Given the description of an element on the screen output the (x, y) to click on. 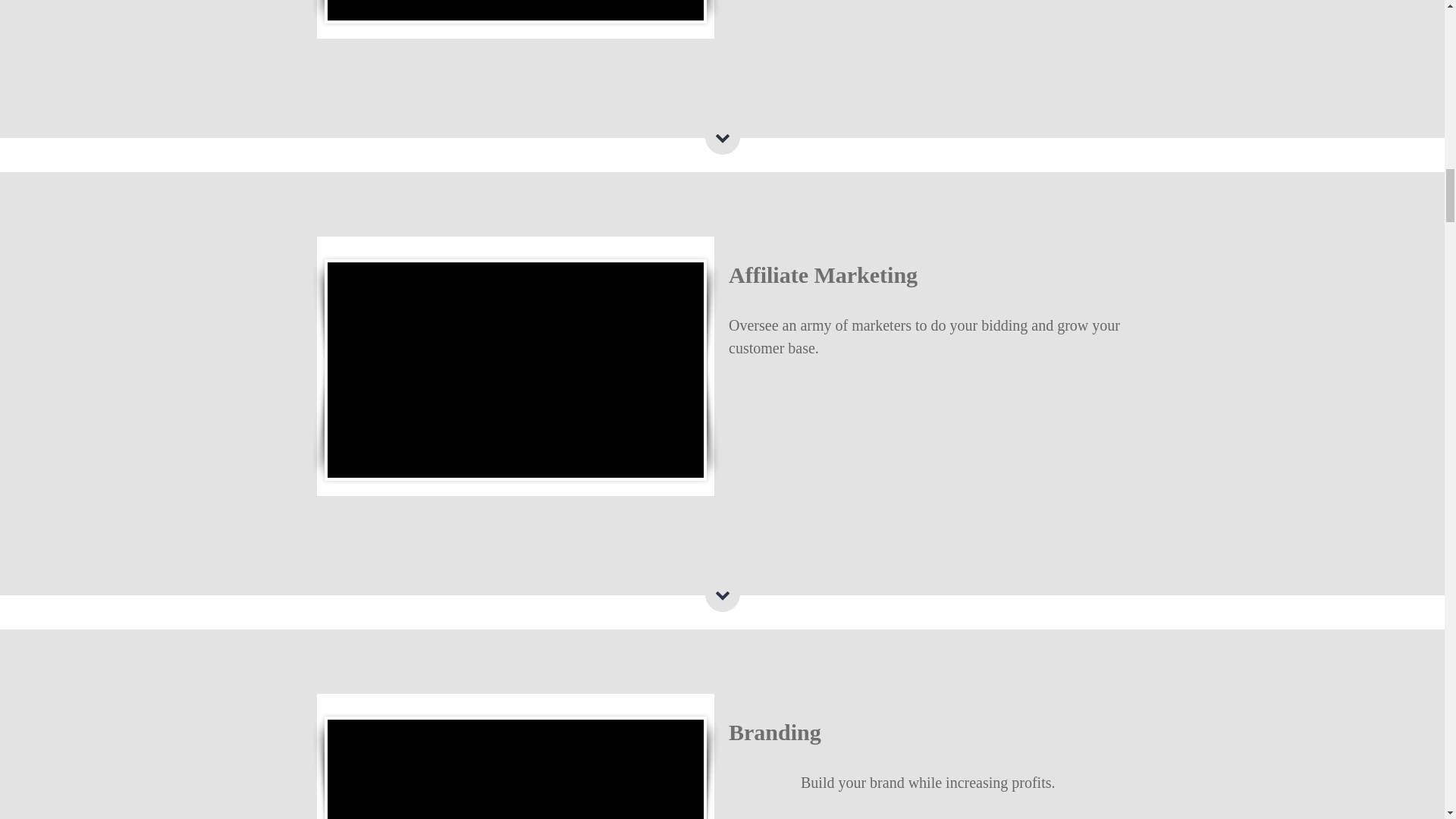
Responsive Video (515, 769)
Responsive Video (515, 369)
Responsive Video (515, 10)
